Given the description of an element on the screen output the (x, y) to click on. 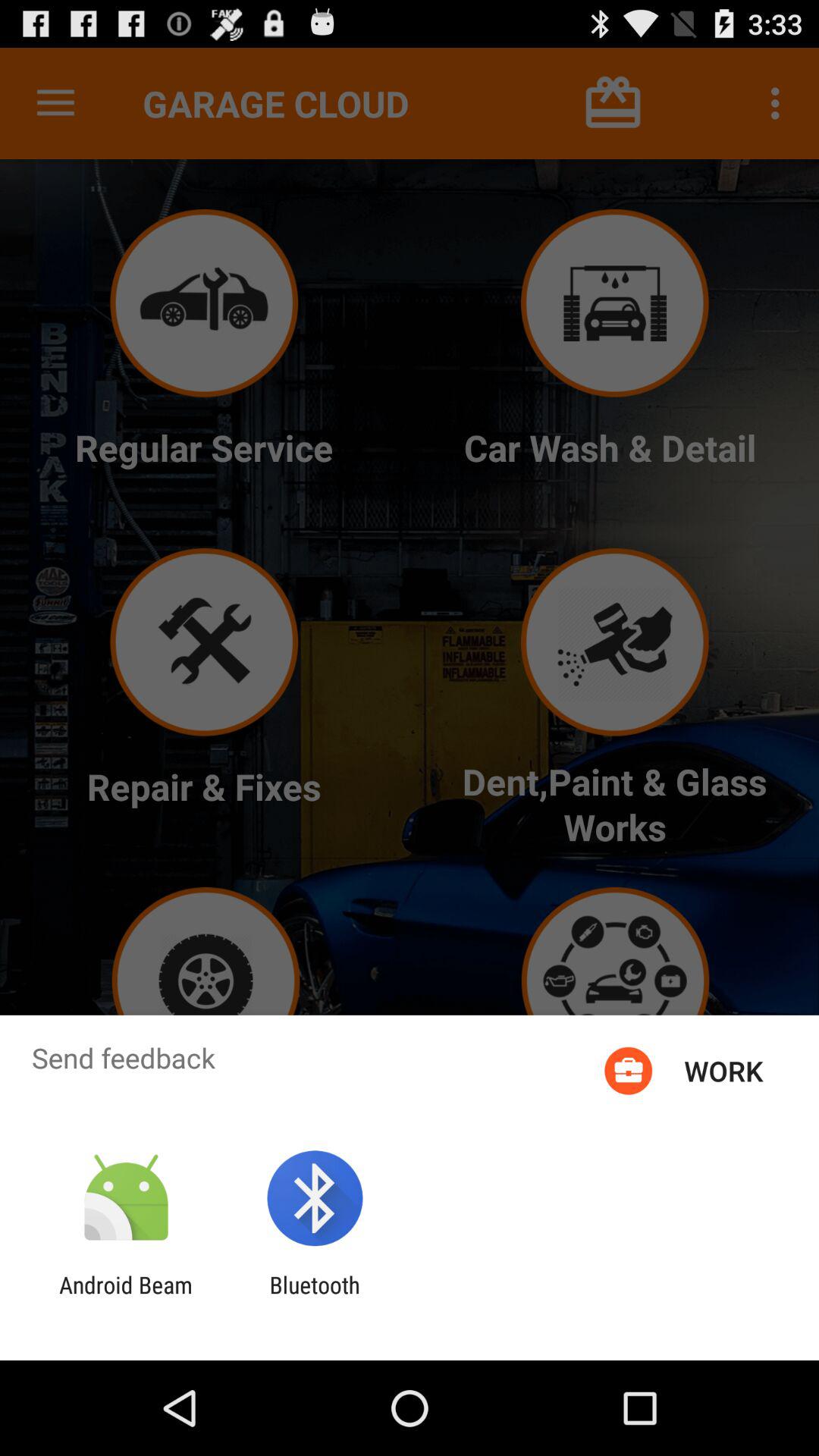
click the app next to the bluetooth item (125, 1298)
